Given the description of an element on the screen output the (x, y) to click on. 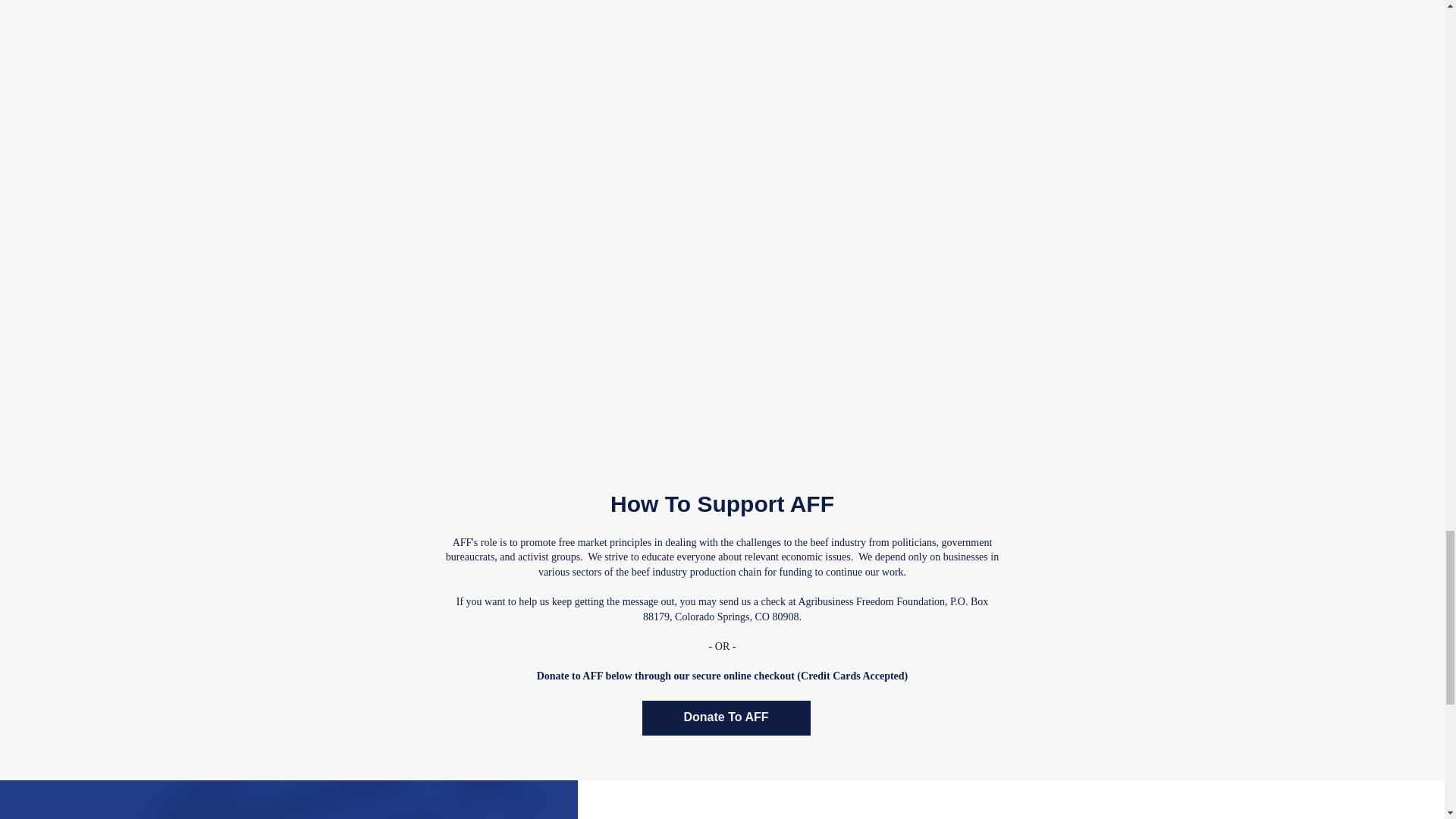
Donate To AFF (725, 718)
